Given the description of an element on the screen output the (x, y) to click on. 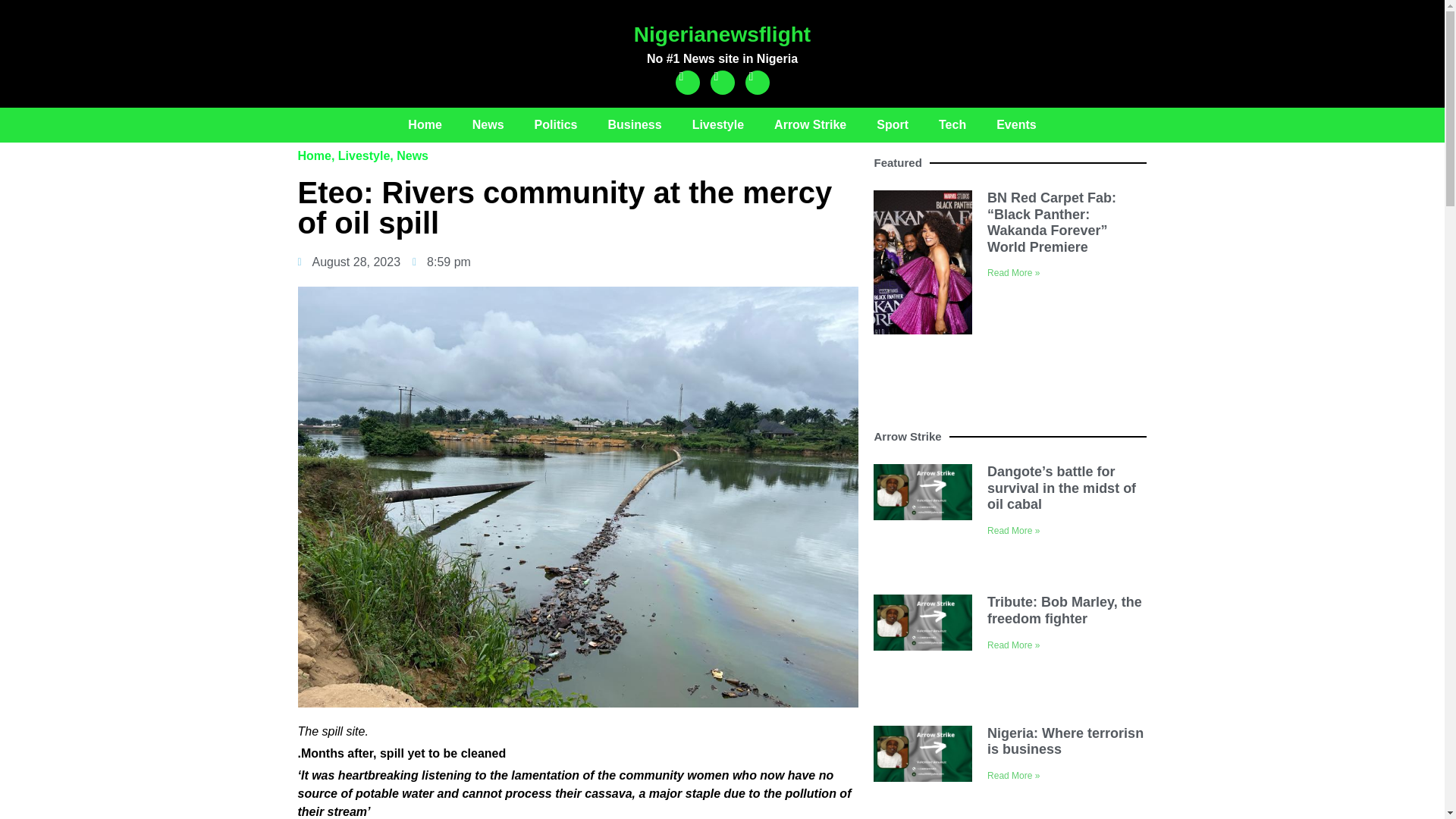
Livestyle (717, 124)
Politics (555, 124)
News (488, 124)
August 28, 2023 (348, 262)
Sport (892, 124)
Tech (952, 124)
Livestyle (363, 155)
Arrow Strike (809, 124)
News (412, 155)
Events (1016, 124)
Home (313, 155)
Home (425, 124)
Nigerianewsflight (721, 33)
Business (634, 124)
